Given the description of an element on the screen output the (x, y) to click on. 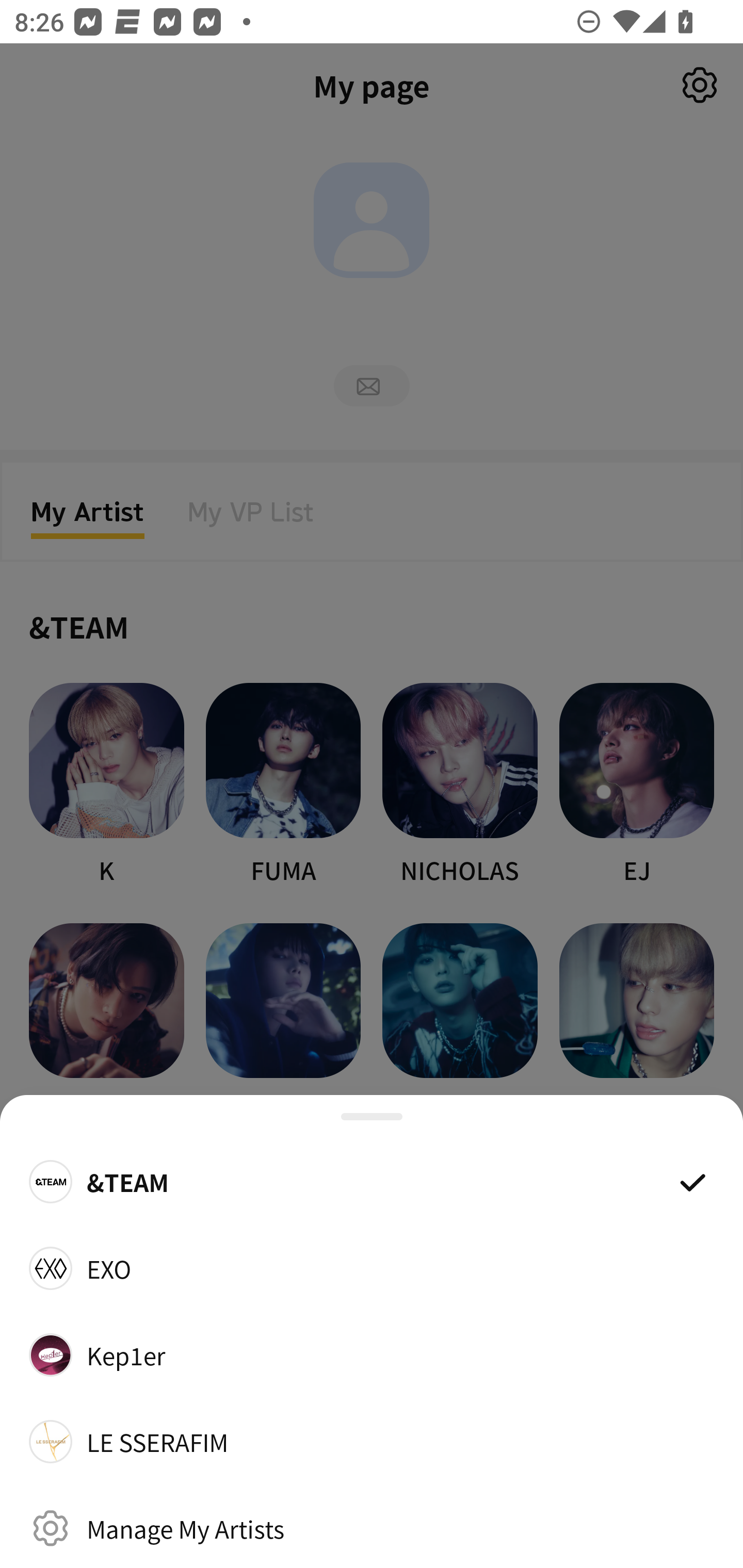
&TEAM (371, 1181)
EXO (371, 1268)
Kep1er (371, 1354)
LE SSERAFIM (371, 1441)
Manage My Artists (371, 1527)
